Given the description of an element on the screen output the (x, y) to click on. 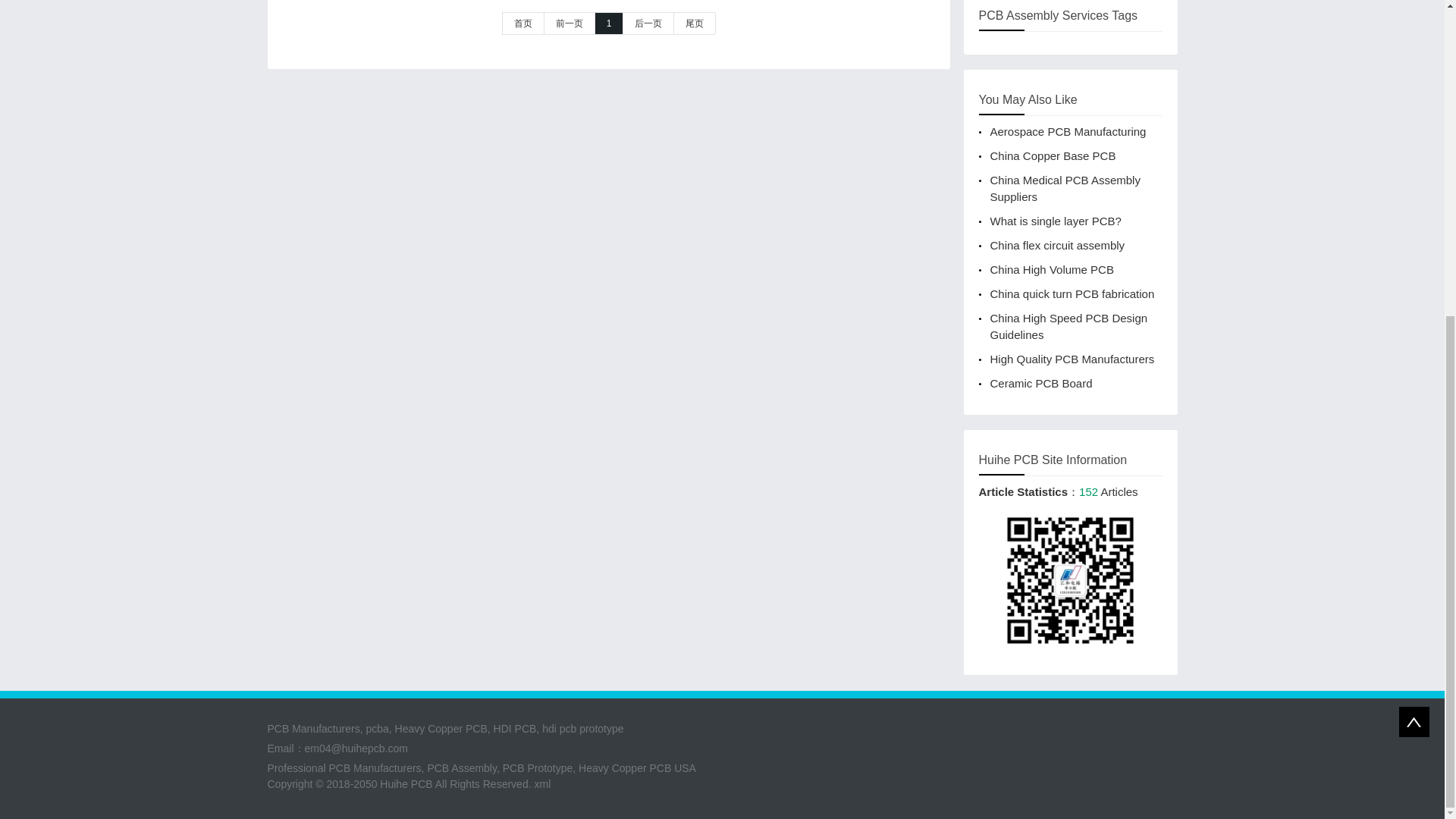
China quick turn PCB fabrication (1072, 293)
PCB Assembly (461, 767)
Ceramic PCB Board (1041, 382)
hdi pcb prototype (582, 728)
China High Volume PCB (1051, 269)
152 (1087, 491)
China flex circuit assembly (1057, 245)
China Medical PCB Assembly Suppliers (1065, 188)
Aerospace PCB Manufacturing (1068, 131)
PCB Manufacturers (374, 767)
China High Volume PCB (1051, 269)
China Copper Base PCB (1053, 155)
pcba (376, 728)
What is single layer PCB? (1055, 220)
PCB Manufacturers (312, 728)
